Given the description of an element on the screen output the (x, y) to click on. 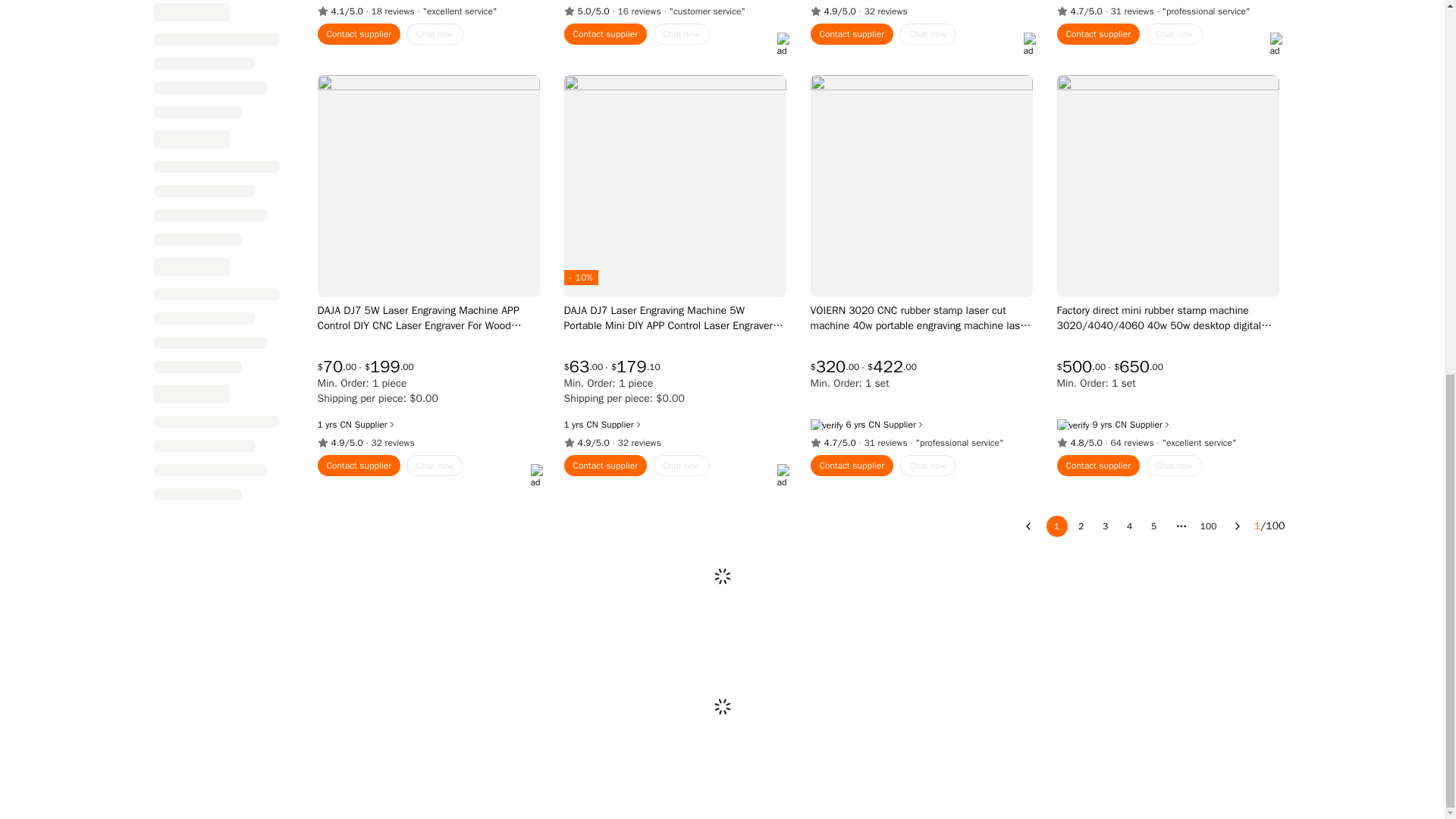
Contact supplier (605, 34)
Chat now (927, 34)
Liaocheng Voiern Laser Technology Co., Ltd. (874, 424)
Dongguan Create Space Technology Co., Ltd. (591, 424)
Contact supplier (851, 34)
Dongguan Create Space Technology Co., Ltd. (344, 424)
Chat now (434, 34)
Liaocheng Voiern Laser Technology Co., Ltd. (1120, 424)
Chat now (681, 34)
Contact supplier (358, 34)
